Given the description of an element on the screen output the (x, y) to click on. 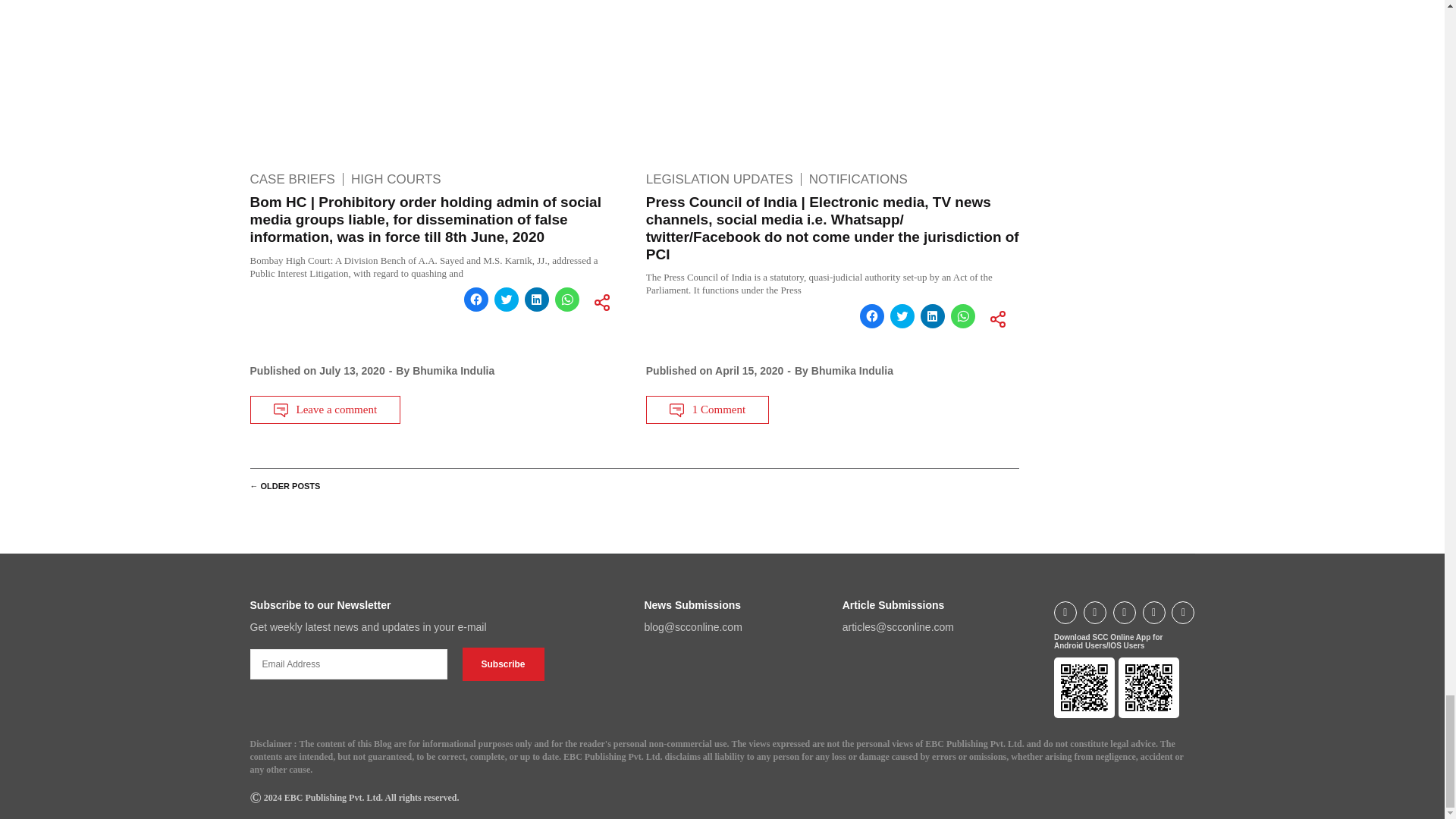
Subscribe (503, 663)
